Given the description of an element on the screen output the (x, y) to click on. 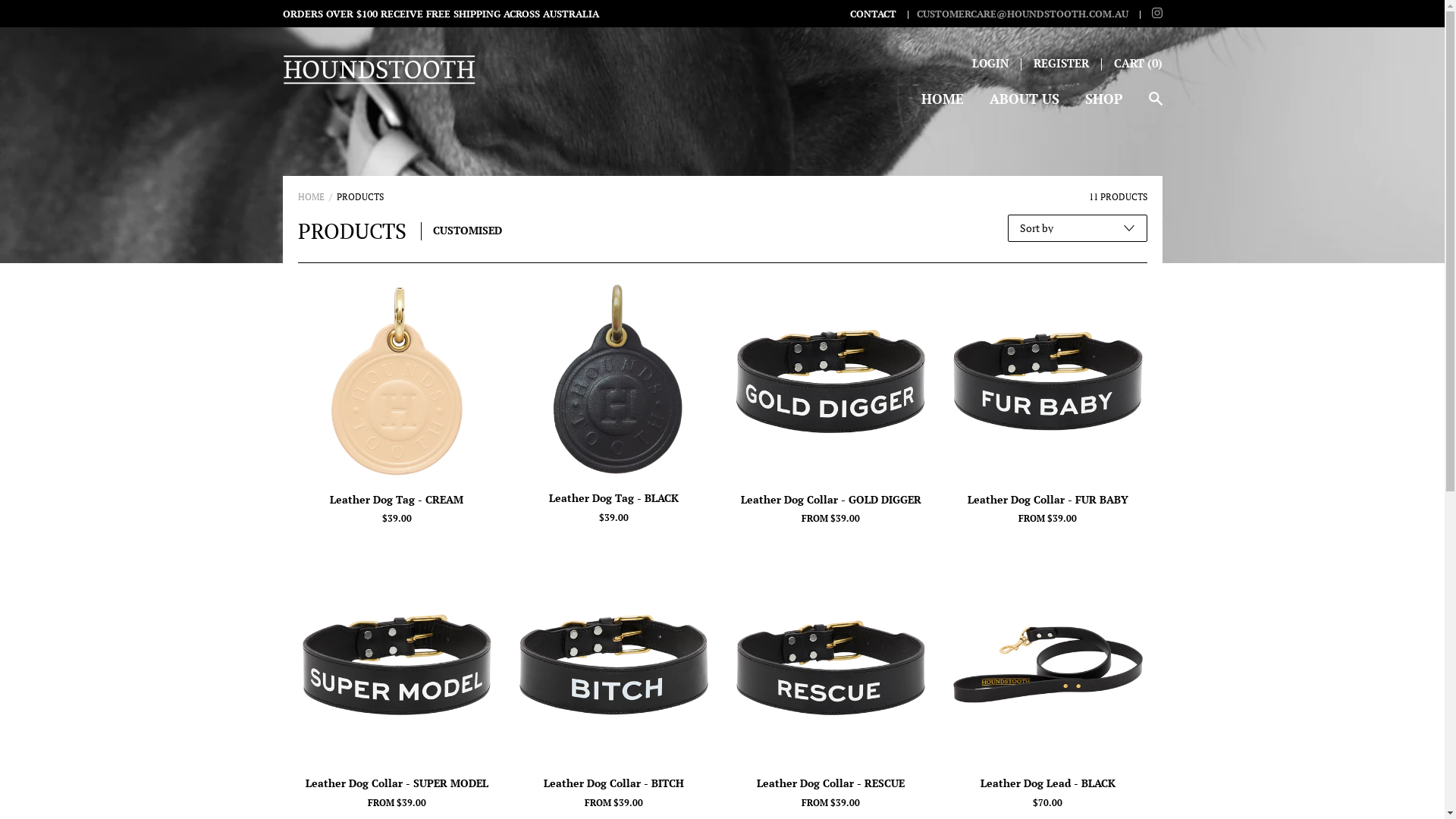
CART (0) Element type: text (1137, 62)
ABOUT US Element type: text (1023, 104)
REGISTER Element type: text (1060, 62)
CUSTOMERCARE@HOUNDSTOOTH.COM.AU Element type: text (1013, 13)
HOME Element type: text (941, 104)
HOME Element type: text (310, 196)
Leather Dog Collar - GOLD DIGGER Element type: text (830, 499)
CUSTOMISED Element type: text (466, 229)
SHOP Element type: text (1103, 104)
Leather Dog Collar - SUPER MODEL Element type: text (396, 783)
Leather Dog Tag - BLACK Element type: text (613, 497)
LOGIN Element type: text (990, 62)
Leather Dog Collar - BITCH Element type: text (613, 783)
Instagram Element type: text (1156, 14)
Search Element type: hover (1154, 105)
Leather Dog Collar - RESCUE Element type: text (830, 783)
Leather Dog Tag - CREAM Element type: text (396, 499)
Leather Dog Collar - FUR BABY Element type: text (1047, 499)
Leather Dog Lead - BLACK Element type: text (1047, 783)
